Given the description of an element on the screen output the (x, y) to click on. 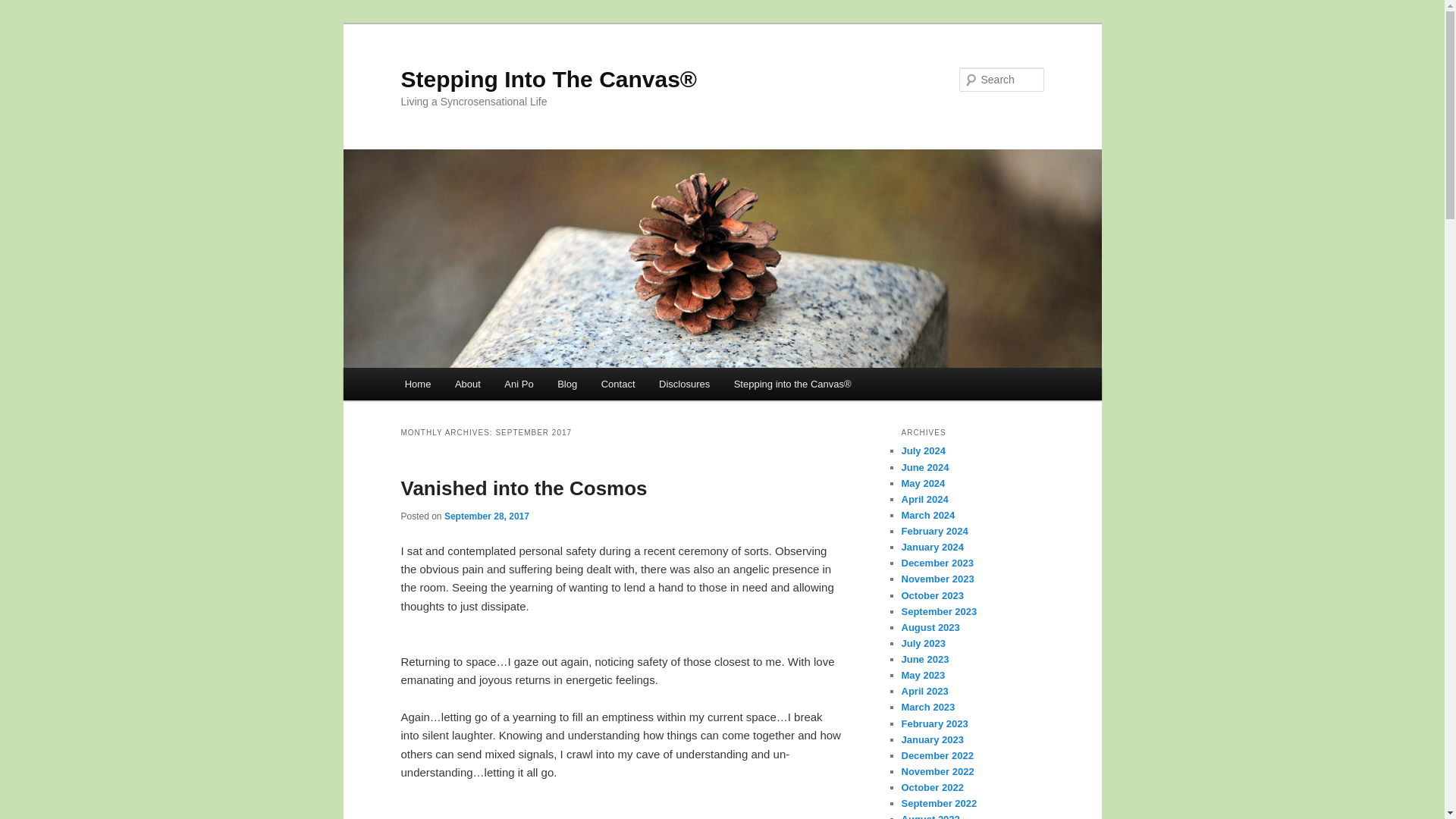
About (467, 383)
Search (24, 8)
Home (417, 383)
3:45 am (486, 516)
Blog (566, 383)
Ani Po (519, 383)
September 28, 2017 (486, 516)
Disclosures (684, 383)
Vanished into the Cosmos (523, 487)
Contact (617, 383)
